Given the description of an element on the screen output the (x, y) to click on. 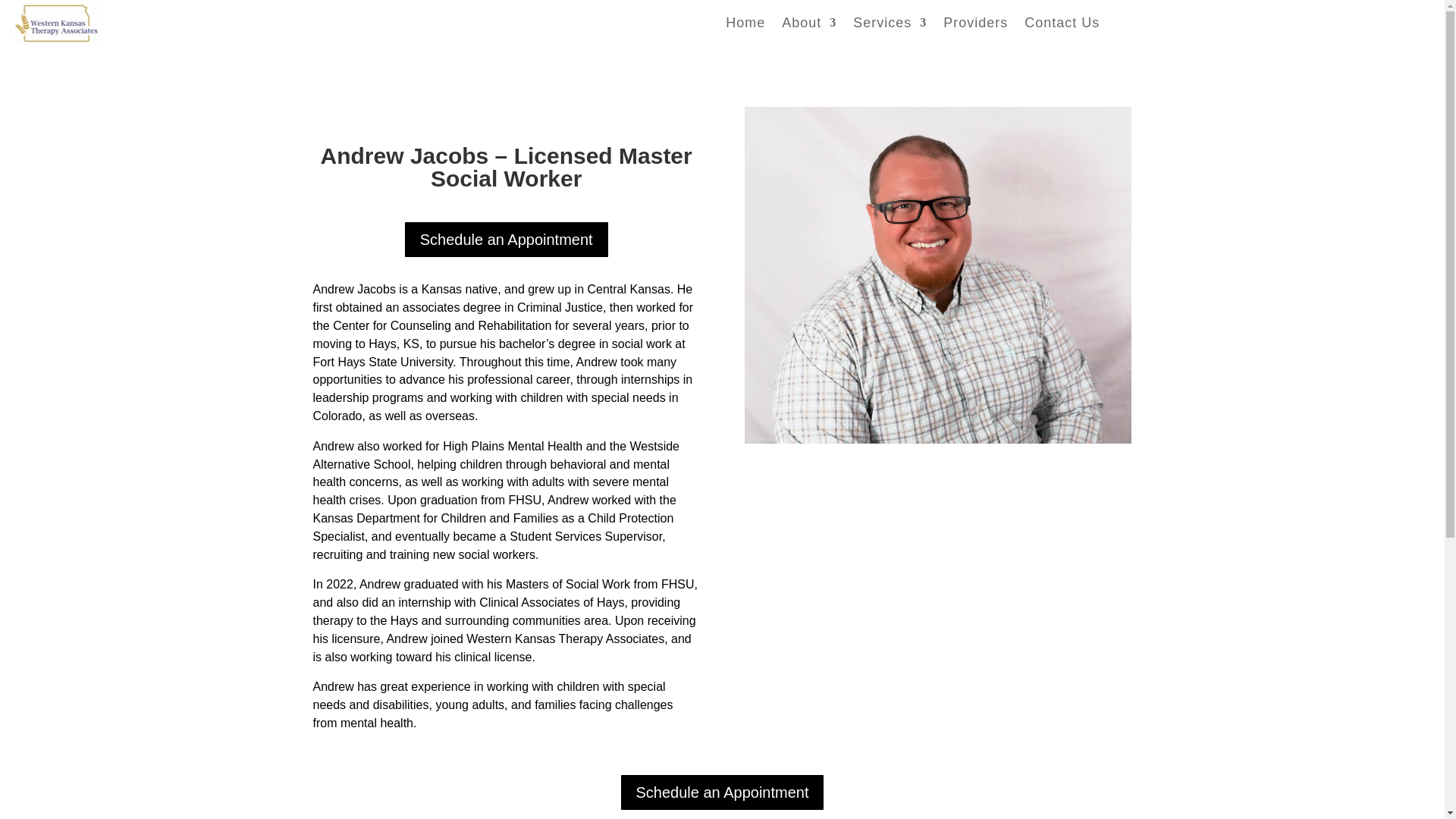
Services (889, 25)
About (808, 25)
Providers (975, 25)
Schedule an Appointment (506, 239)
Contact Us (1062, 25)
Home (745, 25)
Schedule an Appointment (722, 792)
